Given the description of an element on the screen output the (x, y) to click on. 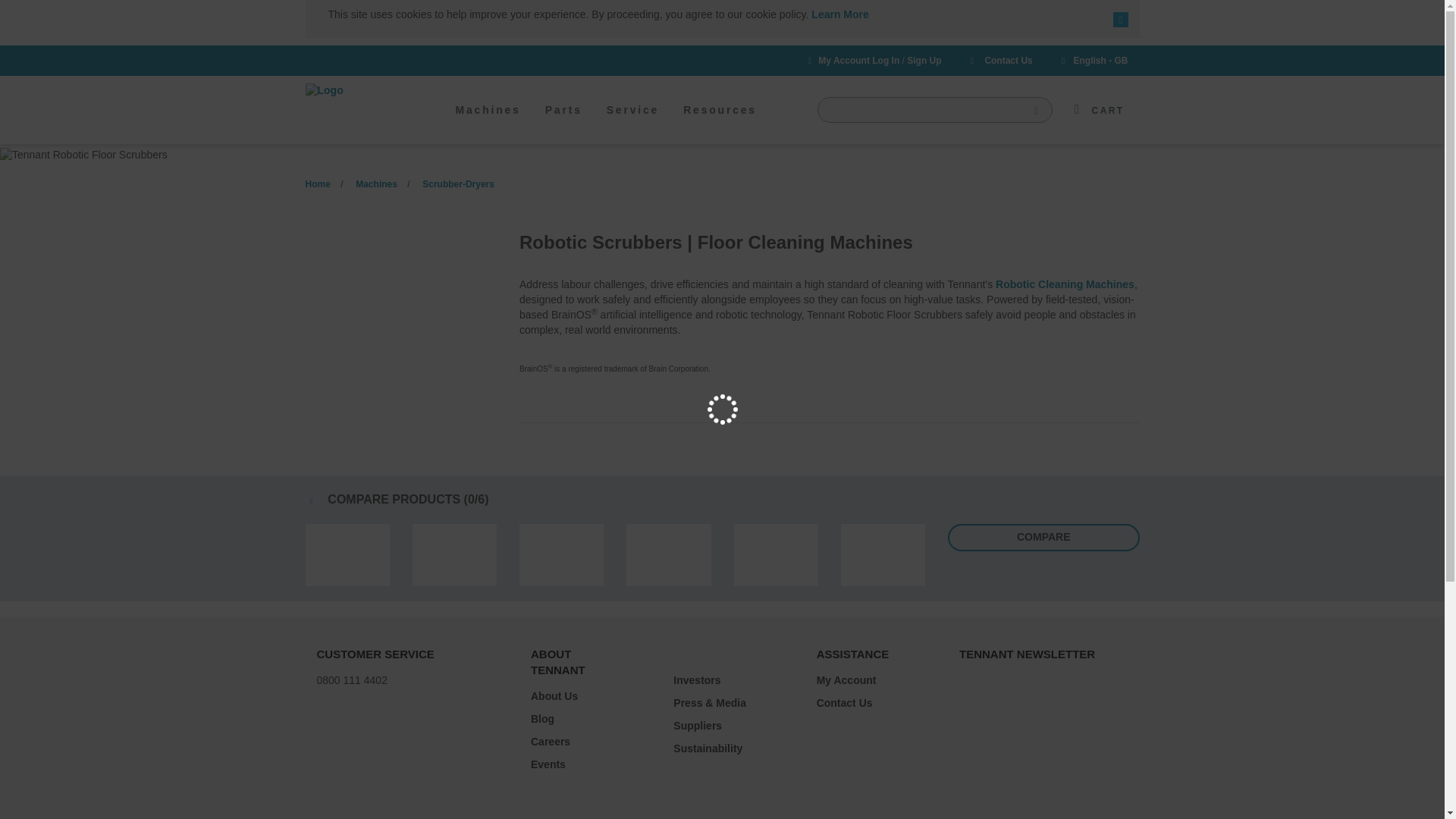
English - GB (1092, 60)
Logo (361, 90)
Contact Us (999, 60)
Machines (486, 121)
Sign Up (923, 60)
My Account Log In (858, 60)
Learn More (838, 14)
